Given the description of an element on the screen output the (x, y) to click on. 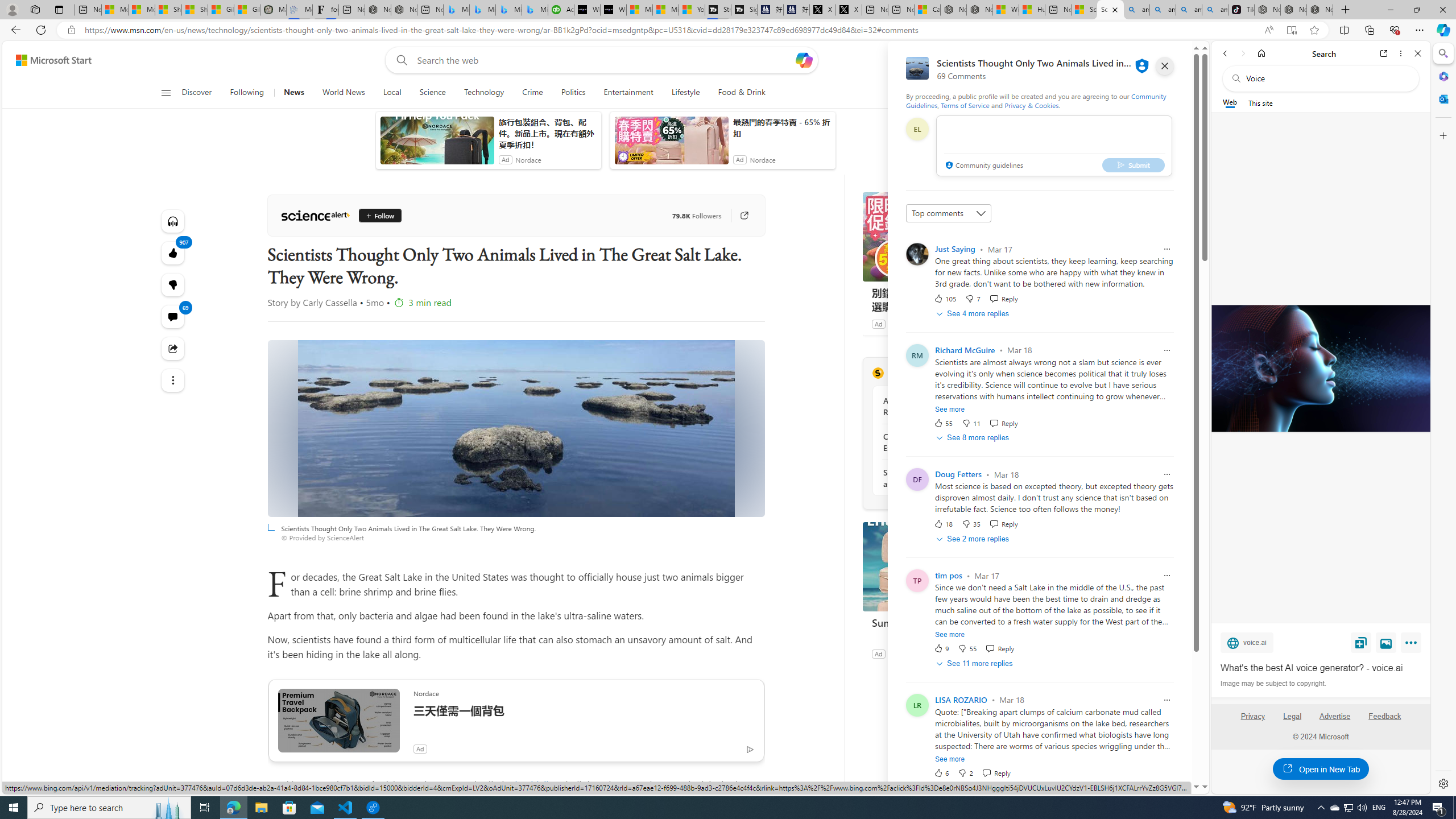
Nordace - Summer Adventures 2024 (979, 9)
Following (248, 92)
Report comment (1166, 699)
Crime (531, 92)
To get missing image descriptions, open the context menu. (983, 92)
Web scope (1230, 102)
Enter your search term (603, 59)
Nordace - #1 Japanese Best-Seller - Siena Smart Backpack (403, 9)
Microsoft Bing Travel - Shangri-La Hotel Bangkok (534, 9)
Follow (375, 215)
Sort comments by (948, 212)
Reply Reply Comment (995, 772)
Skip to content (49, 59)
Enter Immersive Reader (F9) (1291, 29)
